Given the description of an element on the screen output the (x, y) to click on. 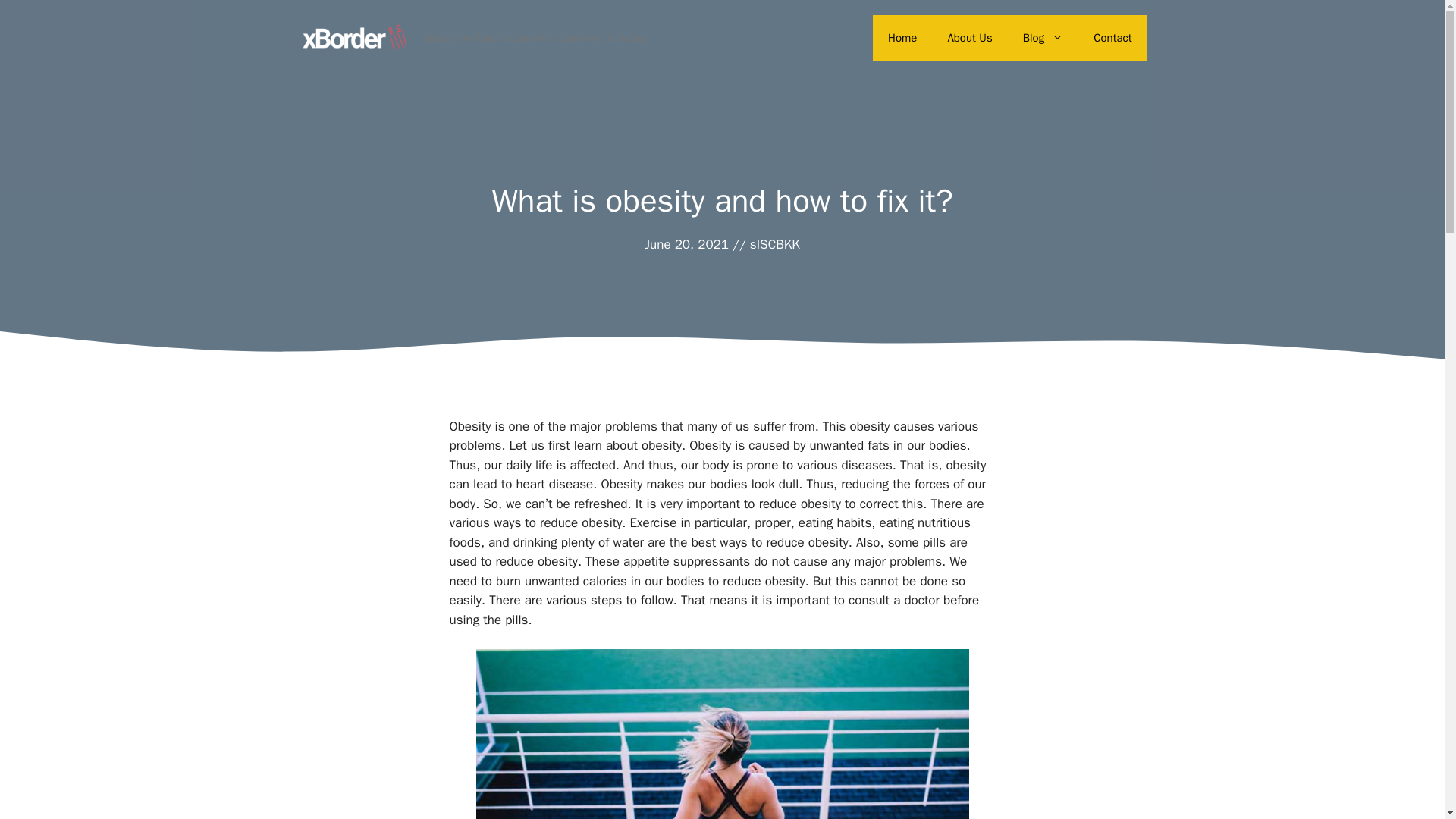
sISCBKK (774, 244)
View all posts by sISCBKK (774, 244)
About Us (969, 37)
appetite suppressants (686, 561)
Home (901, 37)
Contact (1112, 37)
Blog (1042, 37)
